Given the description of an element on the screen output the (x, y) to click on. 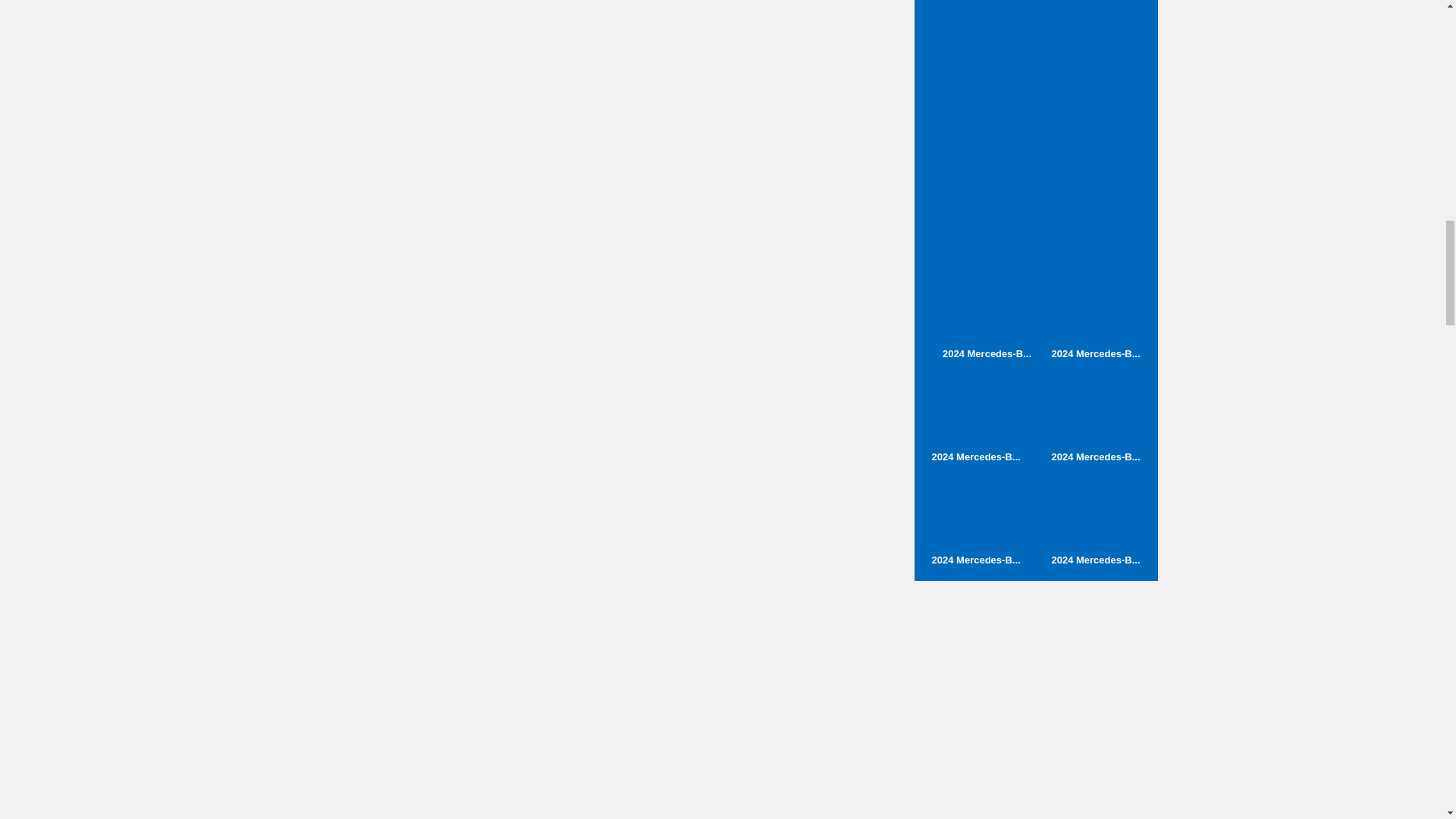
2024 Mercedes-B... (986, 315)
2024 Mercedes-B... (1095, 315)
2024 Mercedes-B... (1095, 520)
2024 Mercedes-B... (976, 417)
2024 Mercedes-B... (976, 520)
2024 Mercedes-B... (1095, 417)
